Given the description of an element on the screen output the (x, y) to click on. 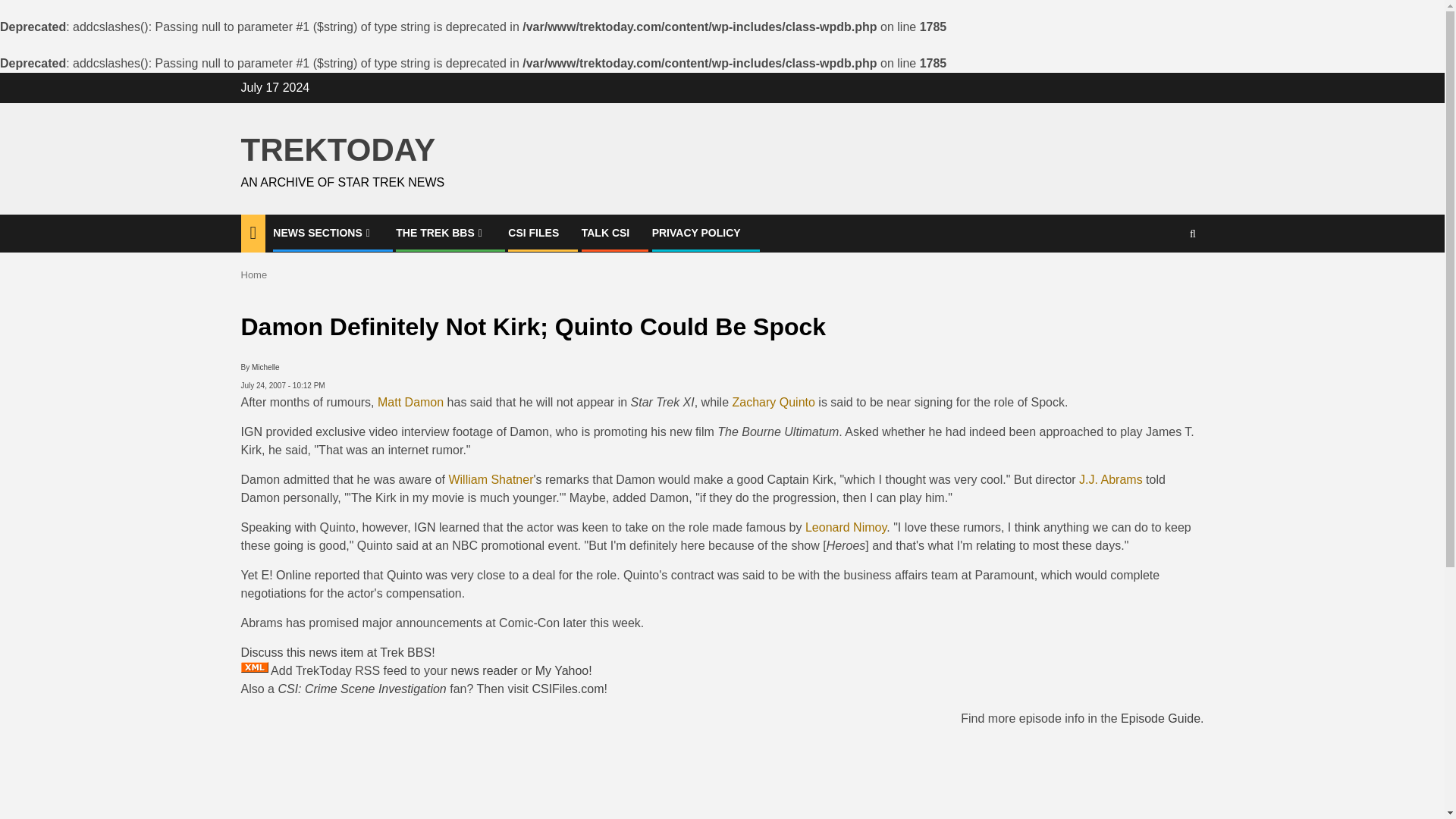
Michelle (265, 367)
Search (1192, 233)
CSIFiles.com (567, 688)
Discuss this news item at Trek BBS! (338, 652)
THE TREK BBS (441, 232)
My Yahoo! (563, 670)
TALK CSI (605, 232)
NEWS SECTIONS (323, 232)
Home (254, 274)
Episode Guide (1160, 717)
E! Online (285, 574)
CSI FILES (533, 232)
news reader (484, 670)
IGN (424, 526)
IGN (251, 431)
